Given the description of an element on the screen output the (x, y) to click on. 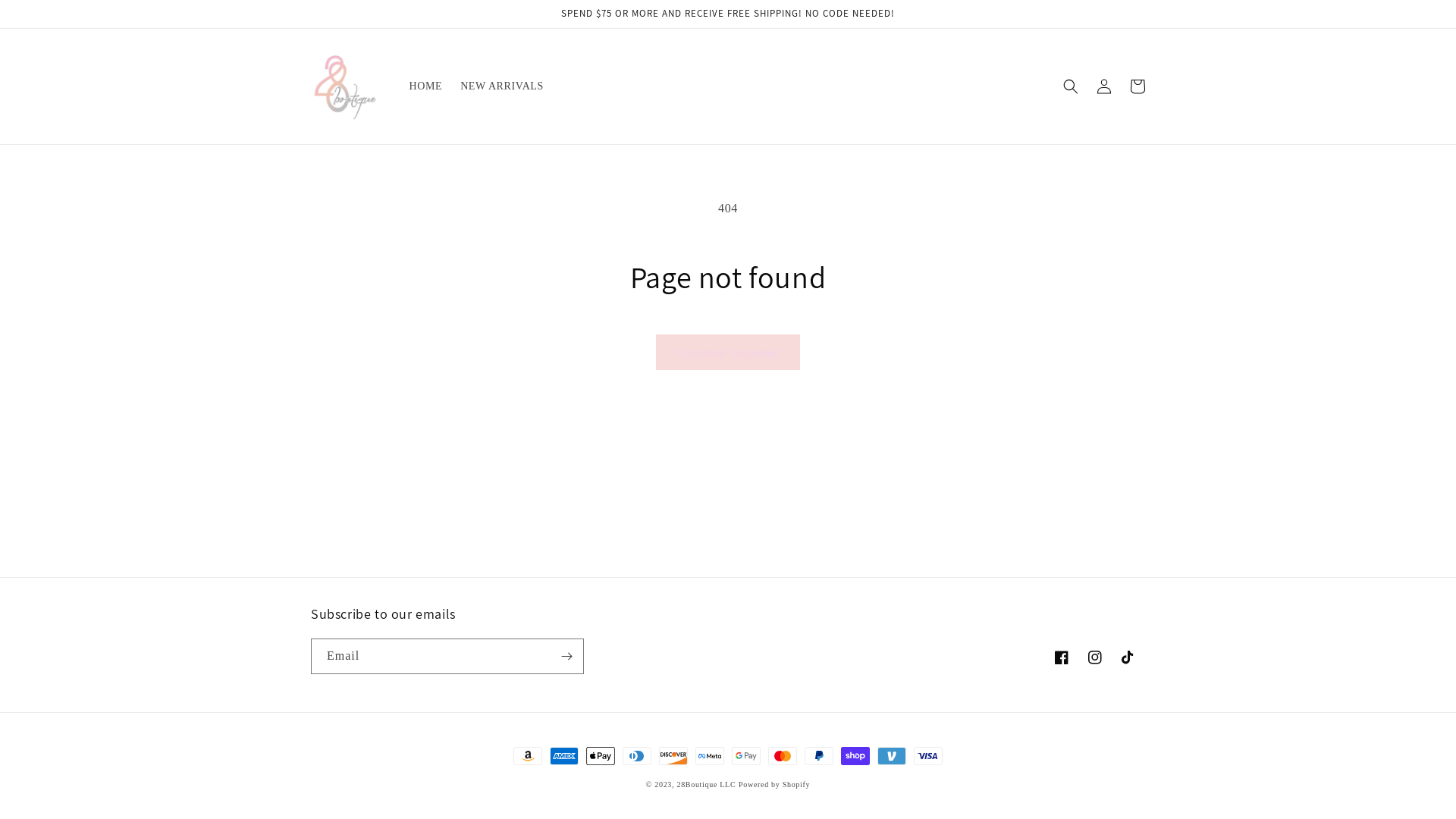
Instagram Element type: text (1094, 657)
Continue shopping Element type: text (727, 352)
TikTok Element type: text (1128, 657)
Log in Element type: text (1103, 86)
HOME Element type: text (425, 86)
28Boutique LLC Element type: text (705, 784)
Facebook Element type: text (1061, 657)
Powered by Shopify Element type: text (773, 784)
Cart Element type: text (1137, 86)
NEW ARRIVALS Element type: text (501, 86)
